Given the description of an element on the screen output the (x, y) to click on. 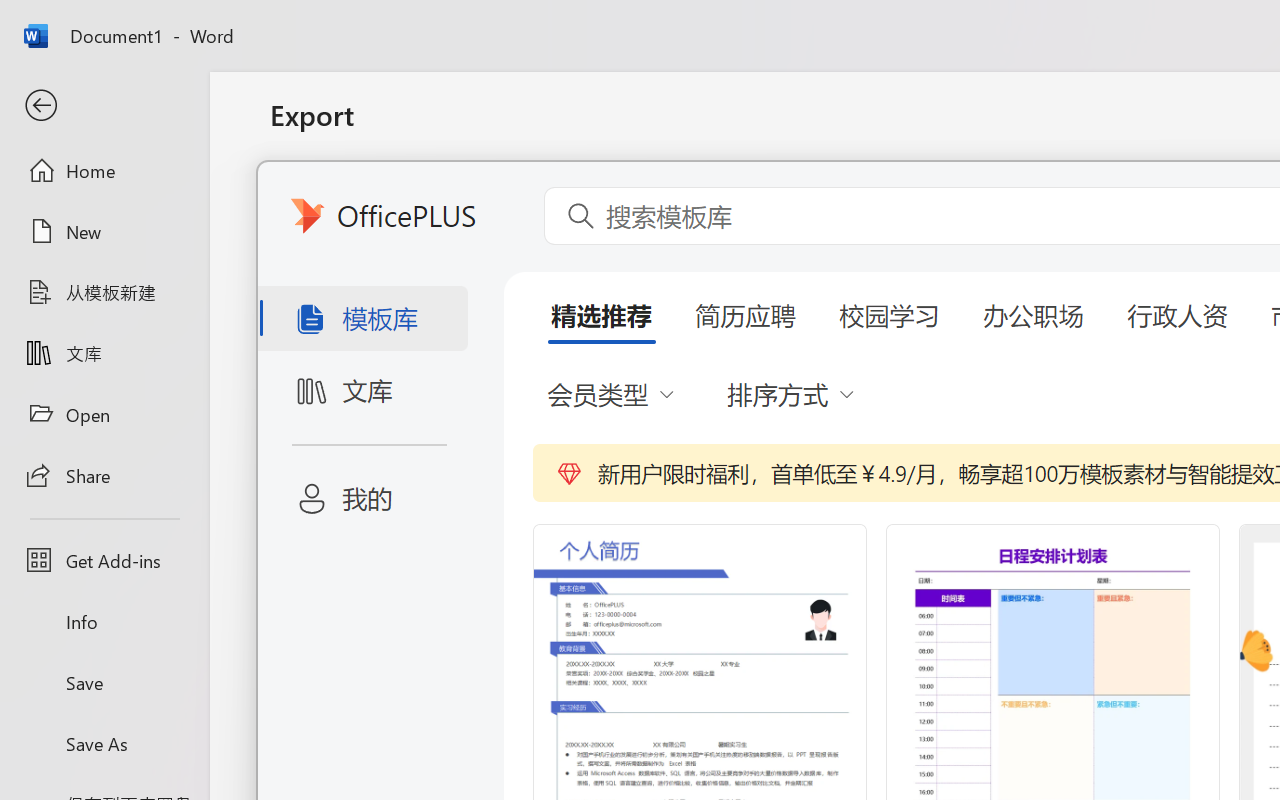
New (104, 231)
Create PDF/XPS (858, 399)
Get Add-ins (104, 560)
Send documents to Kindle (507, 378)
Info (104, 621)
